Given the description of an element on the screen output the (x, y) to click on. 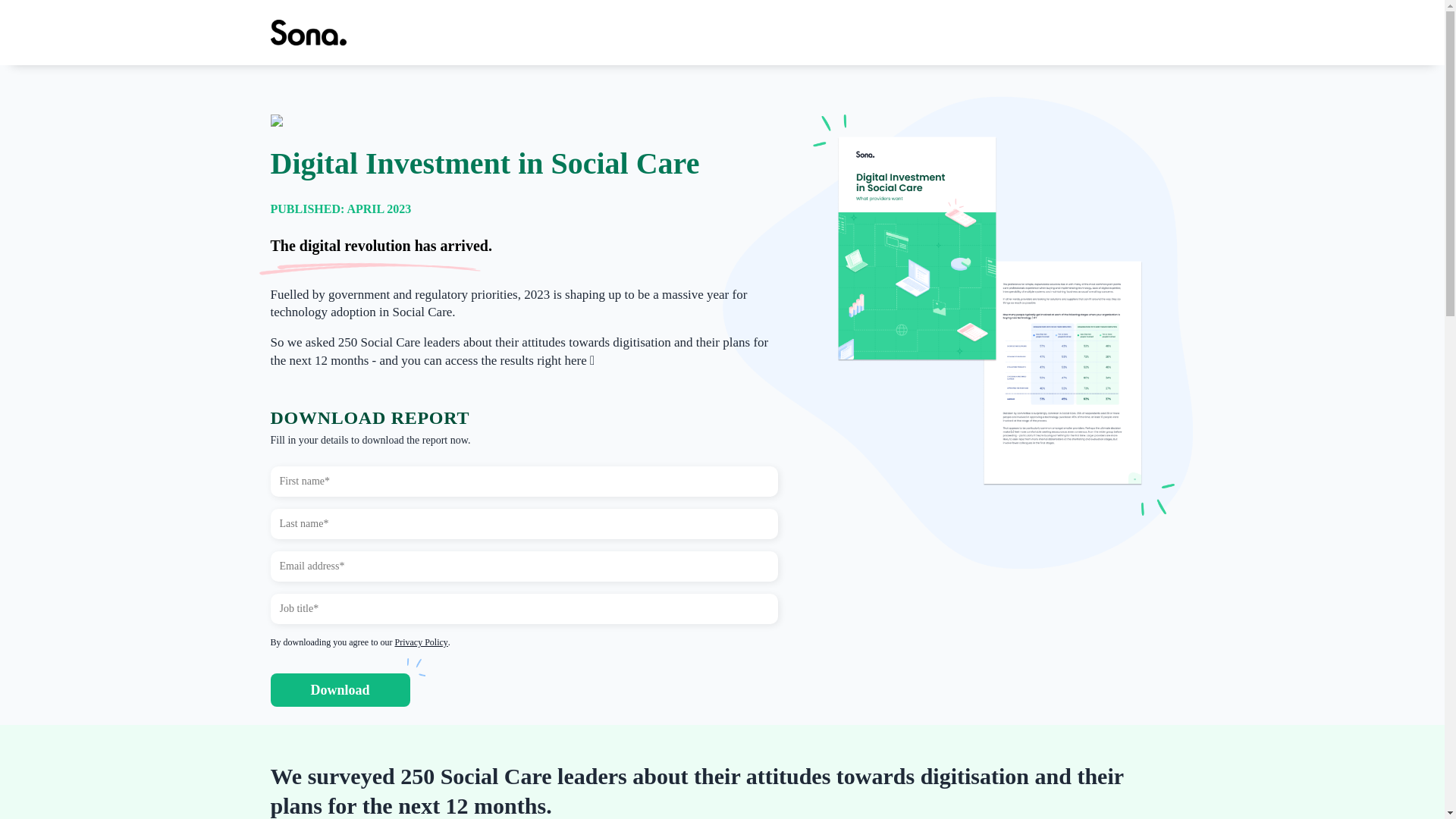
Privacy Policy (420, 642)
Download (339, 689)
Download (339, 689)
